Given the description of an element on the screen output the (x, y) to click on. 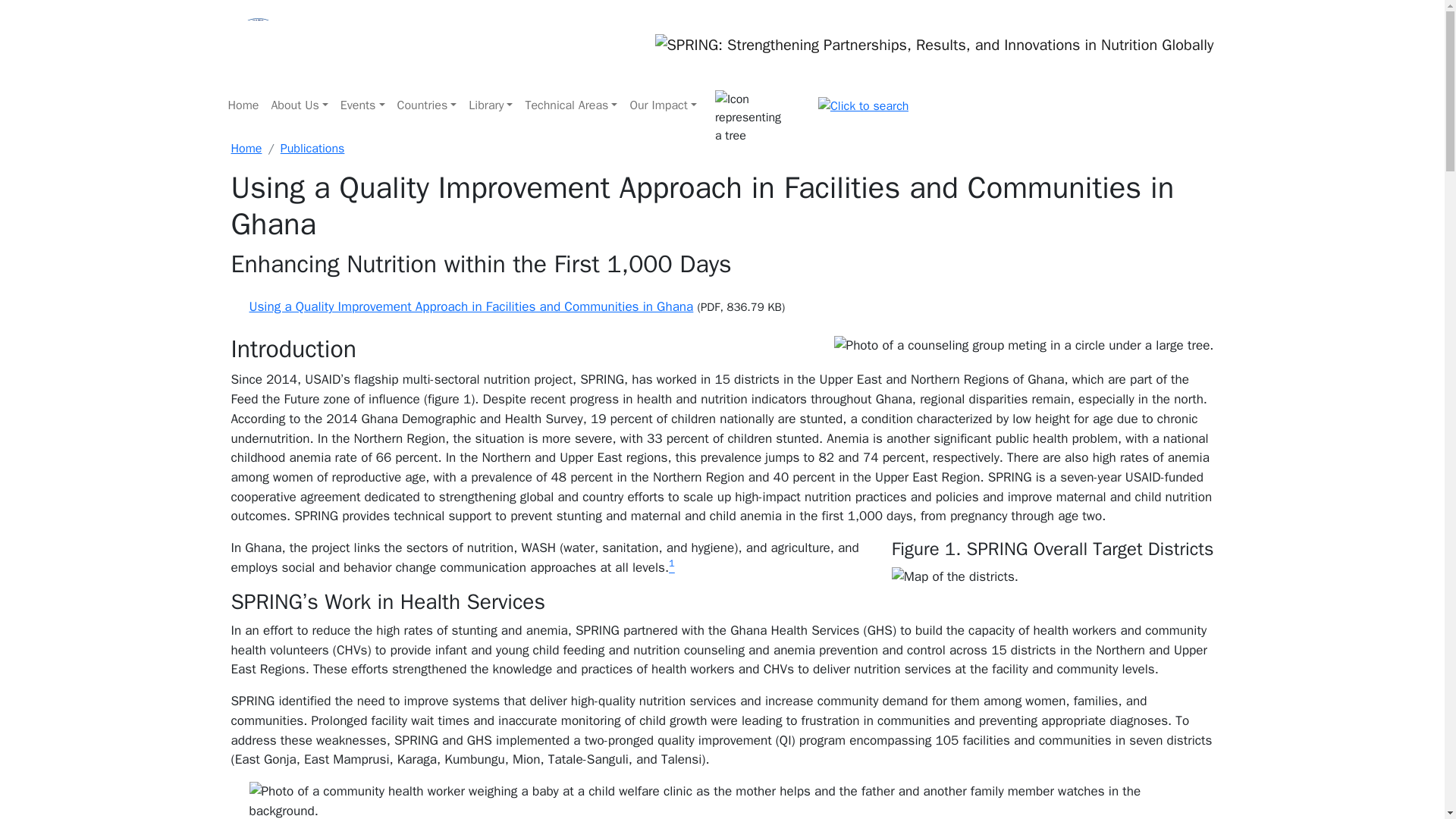
Countries (427, 105)
Home (242, 105)
Events (362, 105)
Library (490, 105)
About Us (298, 105)
